Given the description of an element on the screen output the (x, y) to click on. 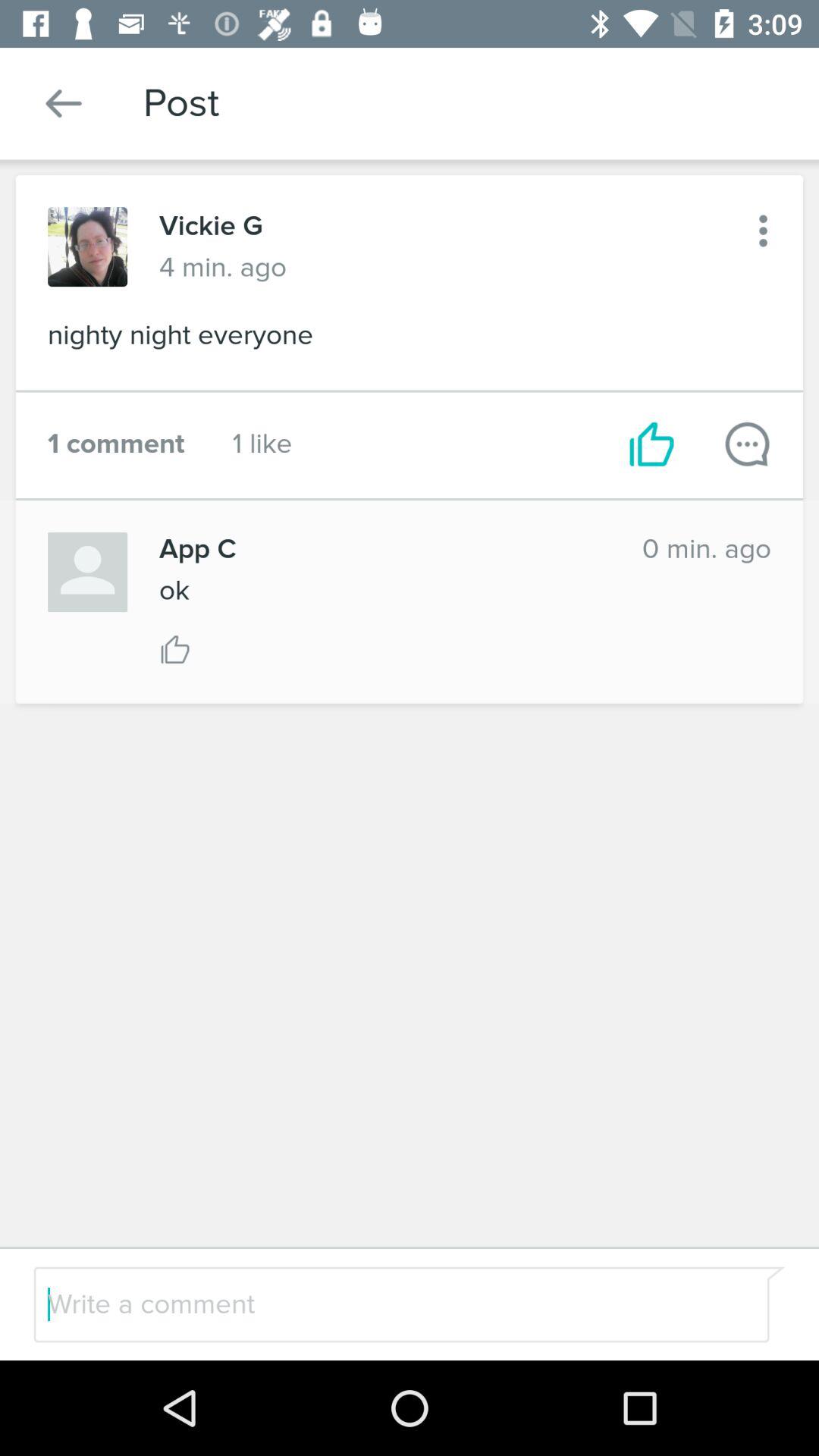
enter a comment (369, 1304)
